Given the description of an element on the screen output the (x, y) to click on. 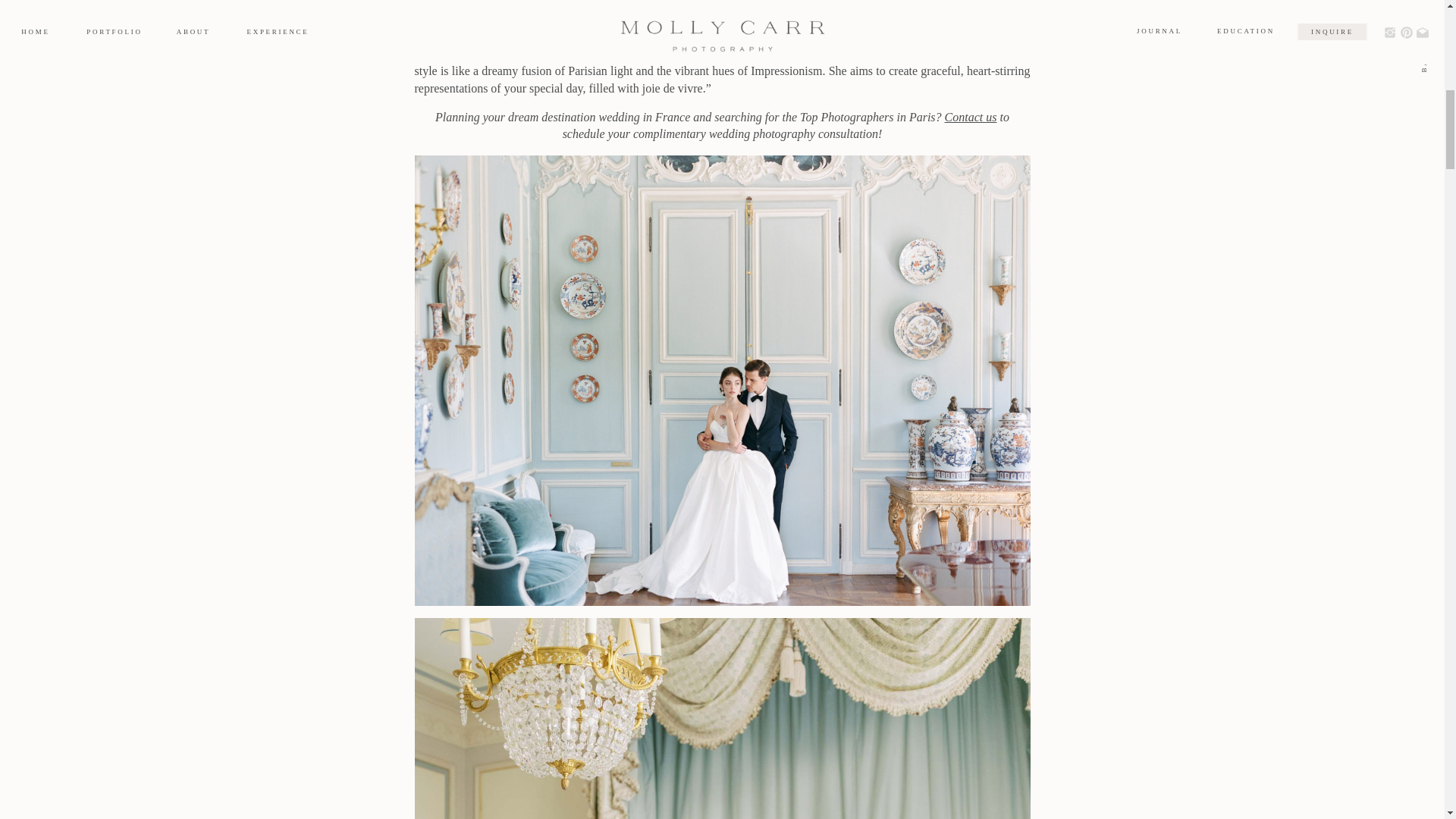
Contact us (970, 116)
